Given the description of an element on the screen output the (x, y) to click on. 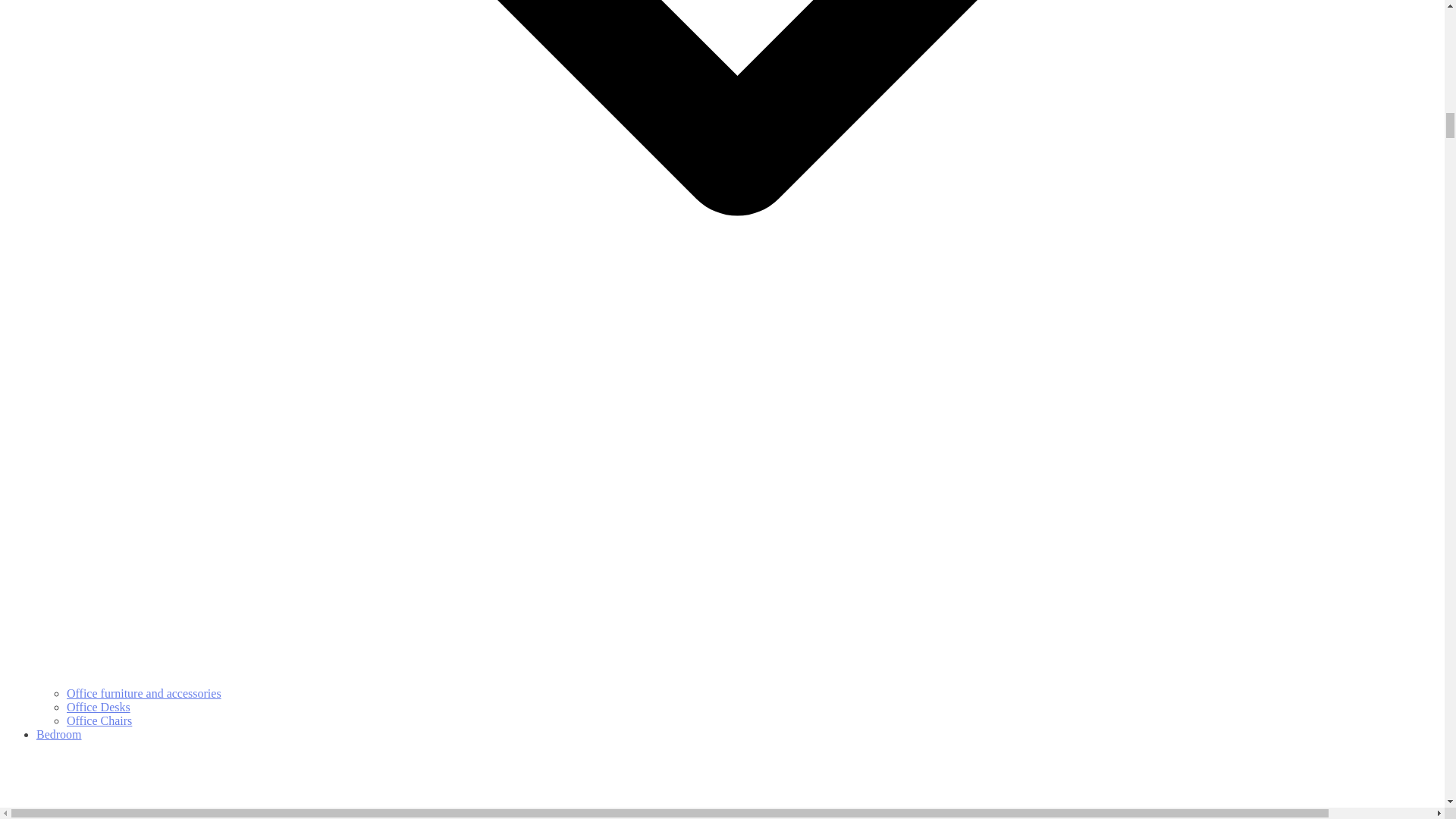
Bedroom (737, 773)
Office Desks (98, 707)
Office furniture and accessories (143, 693)
Office Chairs (99, 720)
